Given the description of an element on the screen output the (x, y) to click on. 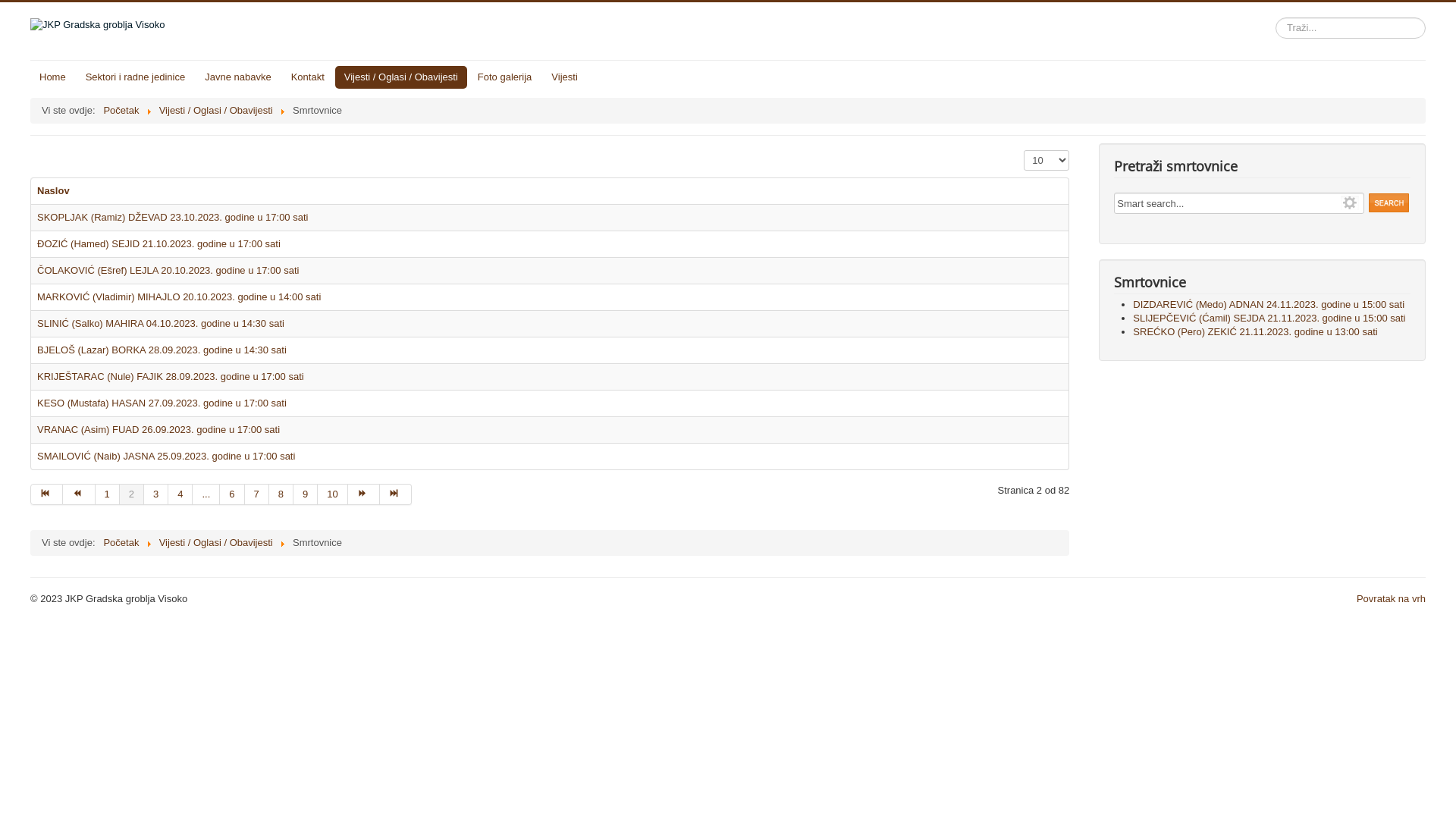
KESO (Mustafa) HASAN 27.09.2023. godine u 17:00 sati Element type: text (161, 402)
2 Element type: text (131, 494)
10 Element type: text (332, 494)
3 Element type: text (156, 494)
Vijesti Element type: text (564, 76)
Vijesti / Oglasi / Obavijesti Element type: text (216, 110)
Povratak na vrh Element type: text (1390, 598)
6 Element type: text (231, 494)
Javne nabavke Element type: text (237, 76)
Vijesti / Oglasi / Obavijesti Element type: text (401, 76)
7 Element type: text (256, 494)
Kontakt Element type: text (307, 76)
Kraj Element type: hover (395, 494)
Prethodna Element type: hover (78, 494)
VRANAC (Asim) FUAD 26.09.2023. godine u 17:00 sati Element type: text (158, 429)
Foto galerija Element type: text (504, 76)
Sektori i radne jedinice Element type: text (135, 76)
4 Element type: text (180, 494)
Home Element type: text (52, 76)
1 Element type: text (107, 494)
9 Element type: text (305, 494)
8 Element type: text (281, 494)
Naslov Element type: text (53, 190)
... Element type: text (205, 494)
Vijesti / Oglasi / Obavijesti Element type: text (216, 542)
